Given the description of an element on the screen output the (x, y) to click on. 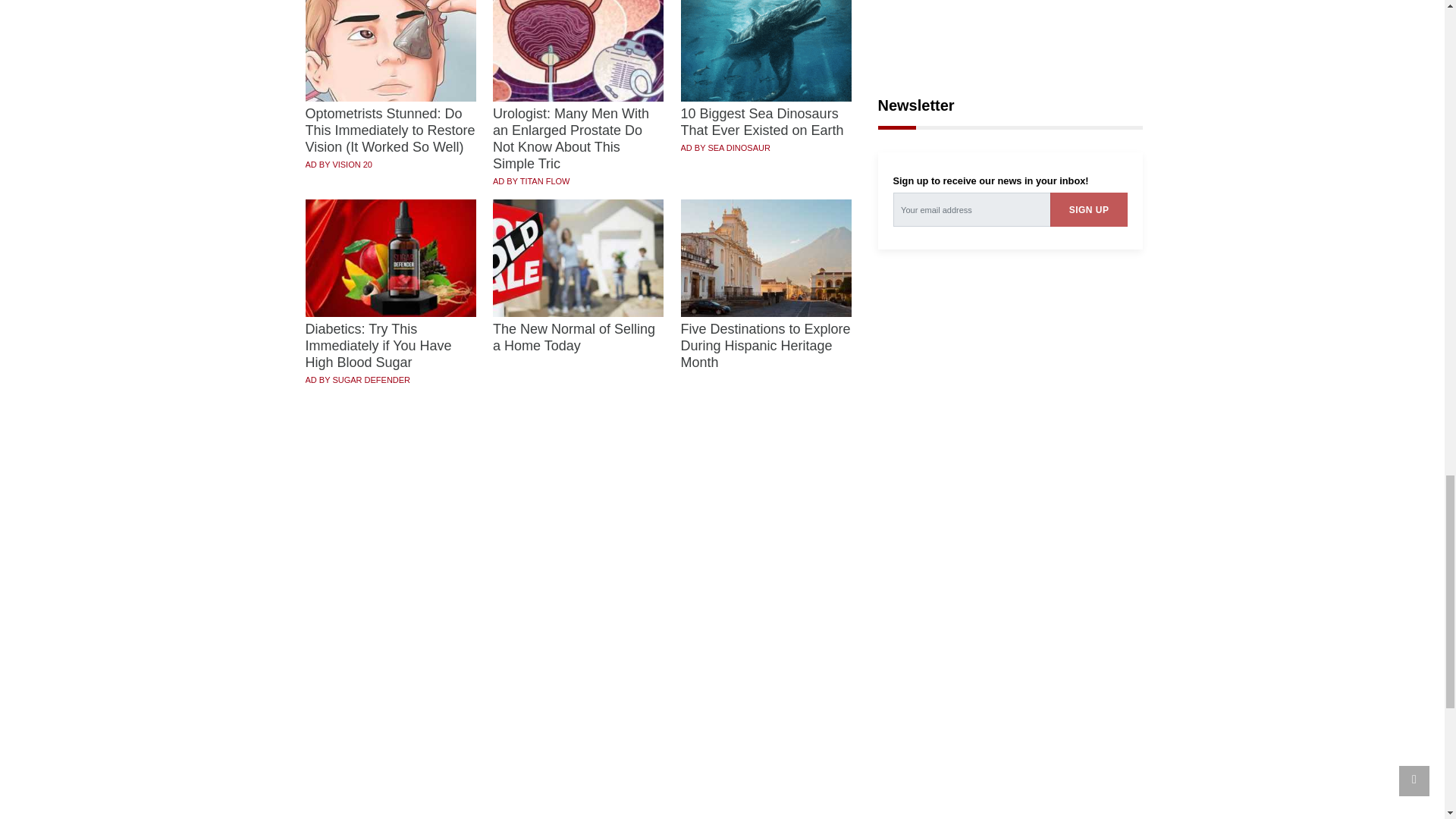
3rd party ad content (722, 767)
3rd party ad content (1010, 378)
3rd party ad content (1010, 590)
3rd party ad content (1010, 31)
